Given the description of an element on the screen output the (x, y) to click on. 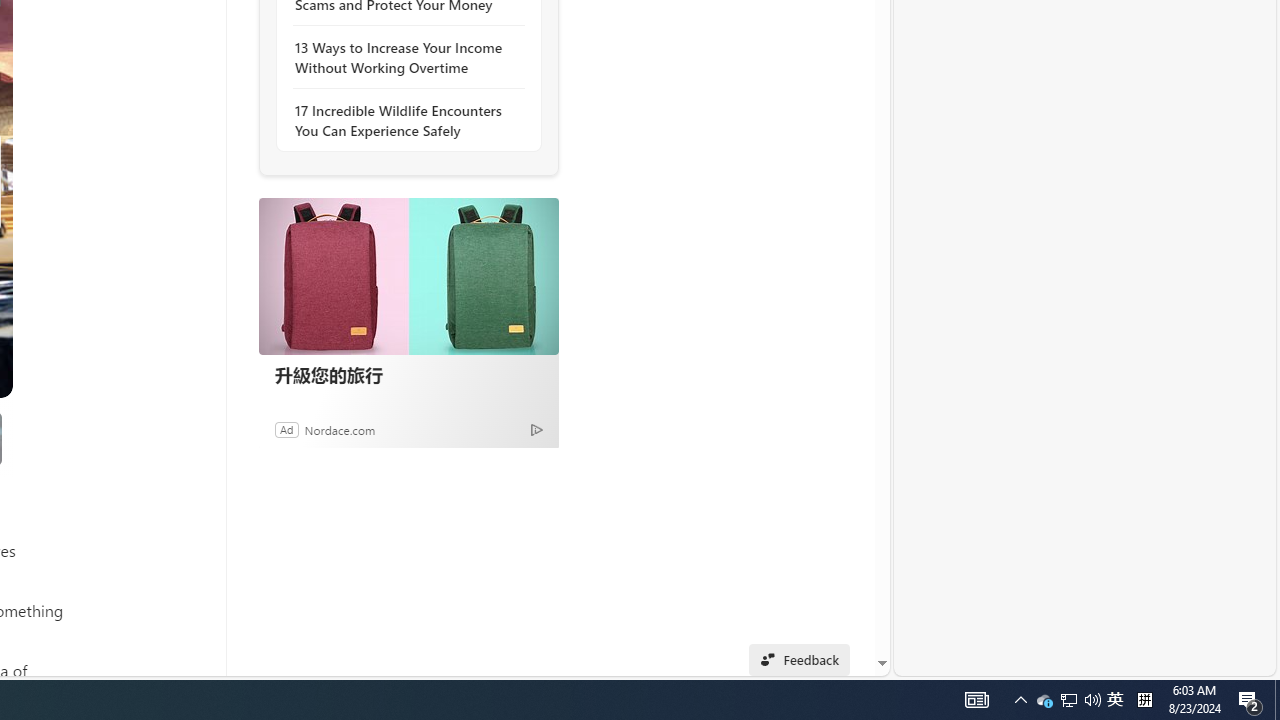
13 Ways to Increase Your Income Without Working Overtime (403, 57)
17 Incredible Wildlife Encounters You Can Experience Safely (403, 120)
Nordace.com (339, 429)
